Given the description of an element on the screen output the (x, y) to click on. 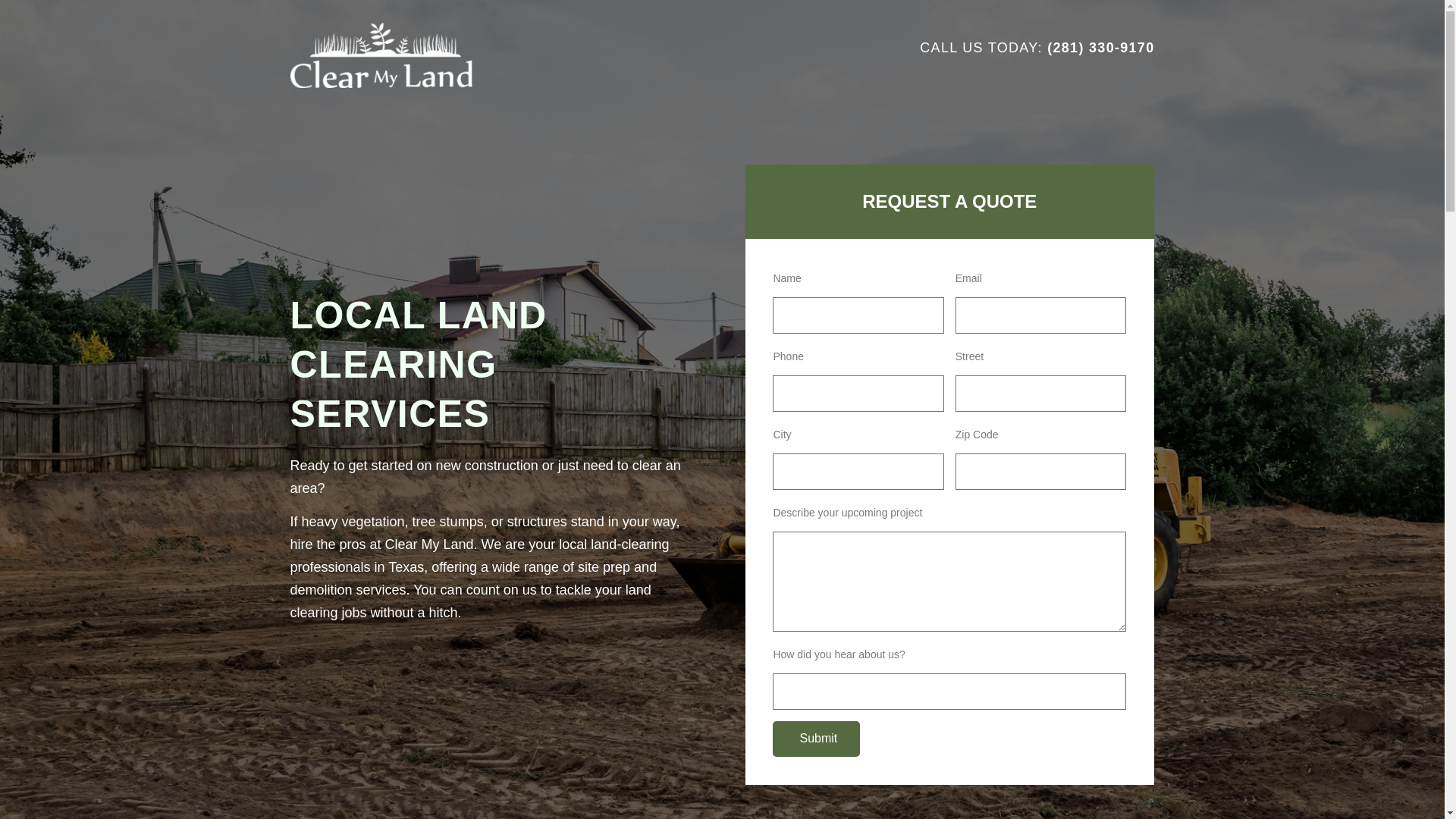
Submit (1222, 738)
